Given the description of an element on the screen output the (x, y) to click on. 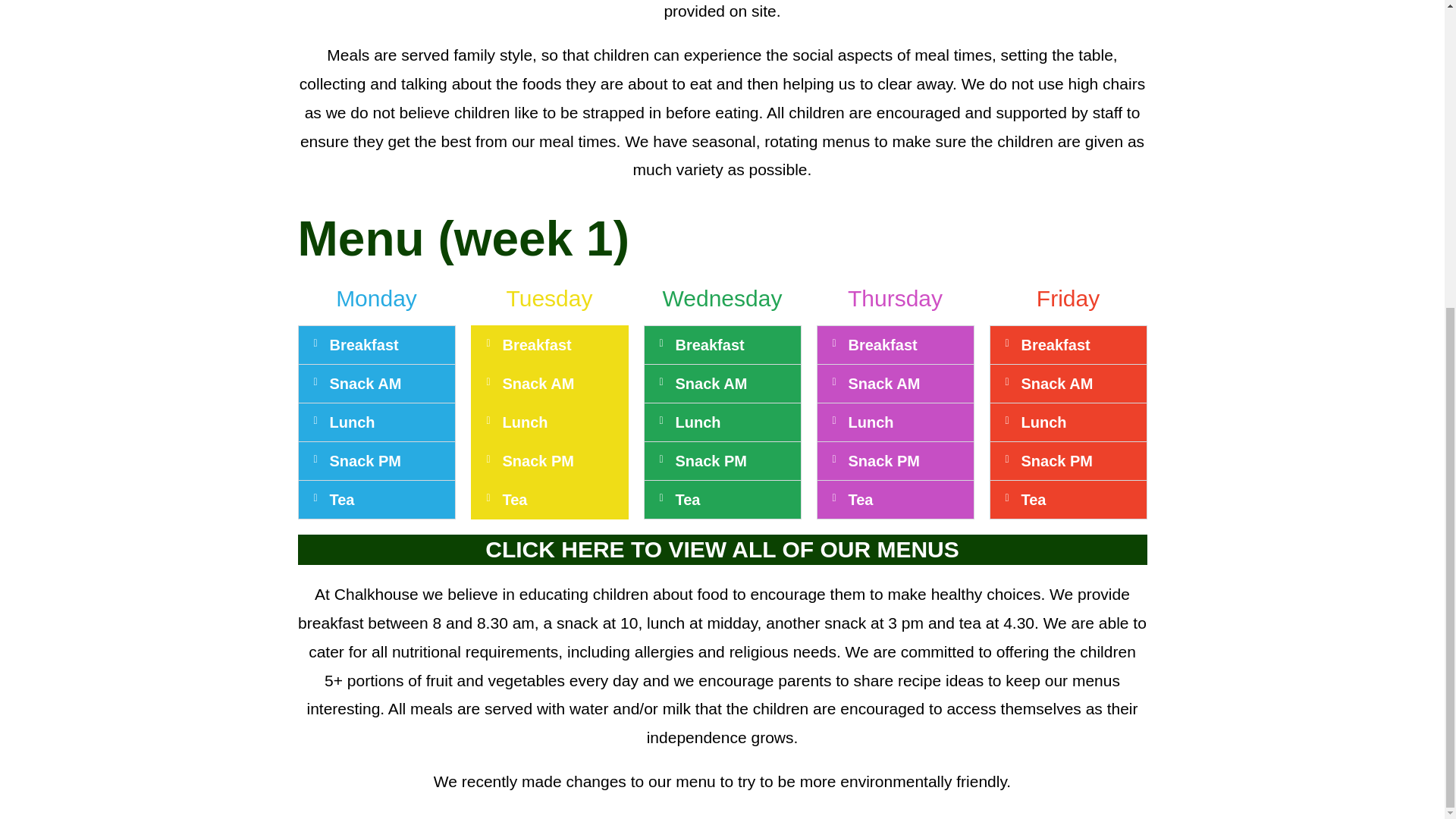
Tea (1032, 499)
Lunch (1042, 422)
Snack AM (1056, 383)
Snack AM (537, 383)
Tea (687, 499)
Snack AM (883, 383)
Lunch (351, 422)
Breakfast (1054, 344)
Lunch (524, 422)
Snack PM (882, 460)
Snack AM (710, 383)
Lunch (870, 422)
Tea (514, 499)
CLICK HERE TO VIEW ALL OF OUR MENUS (721, 549)
Snack PM (1056, 460)
